Given the description of an element on the screen output the (x, y) to click on. 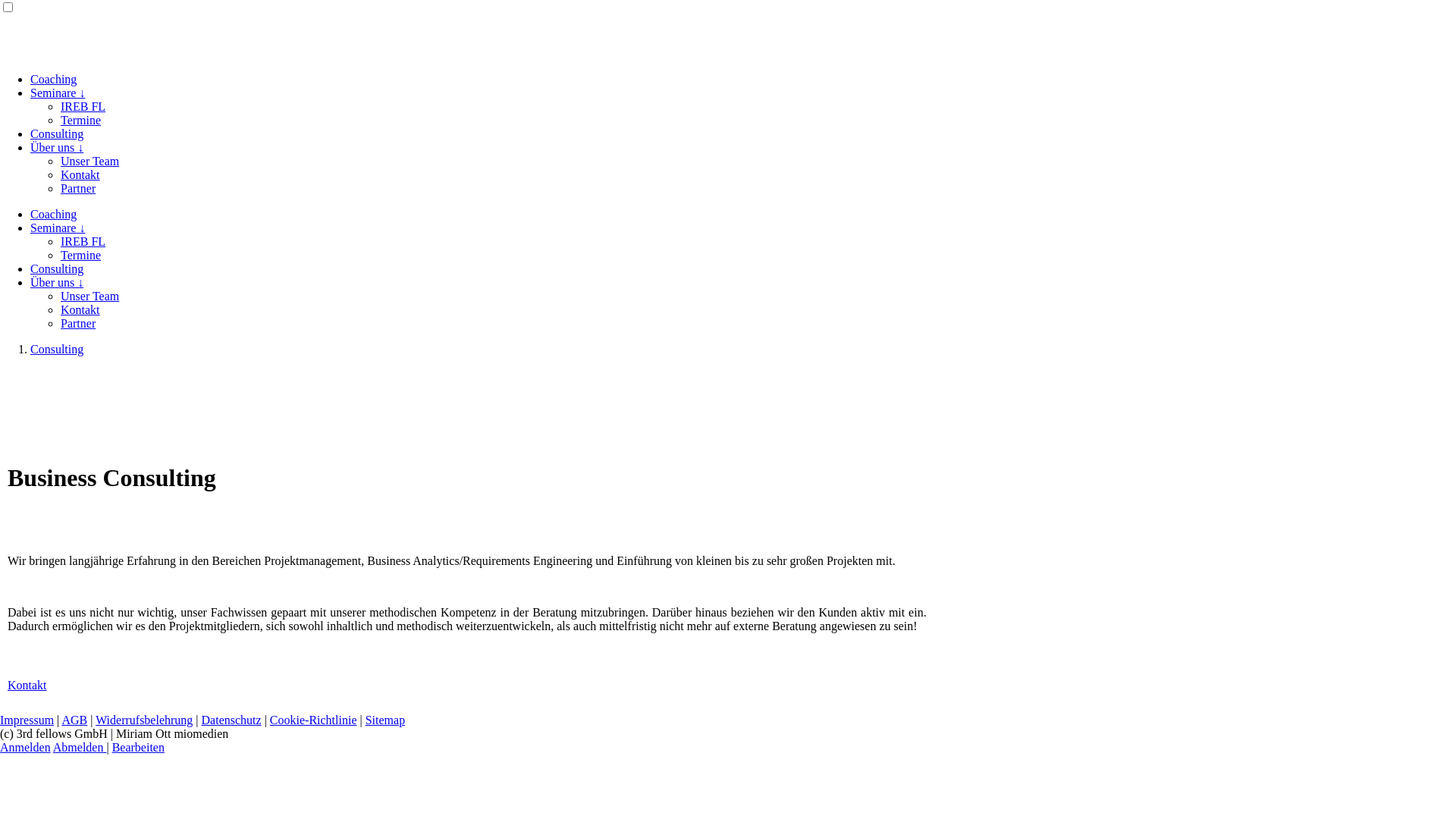
Termine Element type: text (80, 119)
Unser Team Element type: text (89, 160)
Kontakt Element type: text (80, 309)
Partner Element type: text (77, 188)
Consulting Element type: text (56, 268)
Cookie-Richtlinie Element type: text (313, 719)
Impressum Element type: text (26, 719)
Kontakt Element type: text (27, 684)
Kontakt Element type: text (80, 174)
Coaching Element type: text (53, 213)
IREB FL Element type: text (82, 241)
Widerrufsbelehrung Element type: text (143, 719)
Coaching Element type: text (53, 78)
IREB FL Element type: text (82, 106)
Abmelden Element type: text (79, 746)
Sitemap Element type: text (384, 719)
Datenschutz Element type: text (231, 719)
Consulting Element type: text (56, 348)
Termine Element type: text (80, 254)
AGB Element type: text (74, 719)
Unser Team Element type: text (89, 295)
Bearbeiten Element type: text (138, 746)
Anmelden Element type: text (25, 746)
Partner Element type: text (77, 322)
Consulting Element type: text (56, 133)
